Given the description of an element on the screen output the (x, y) to click on. 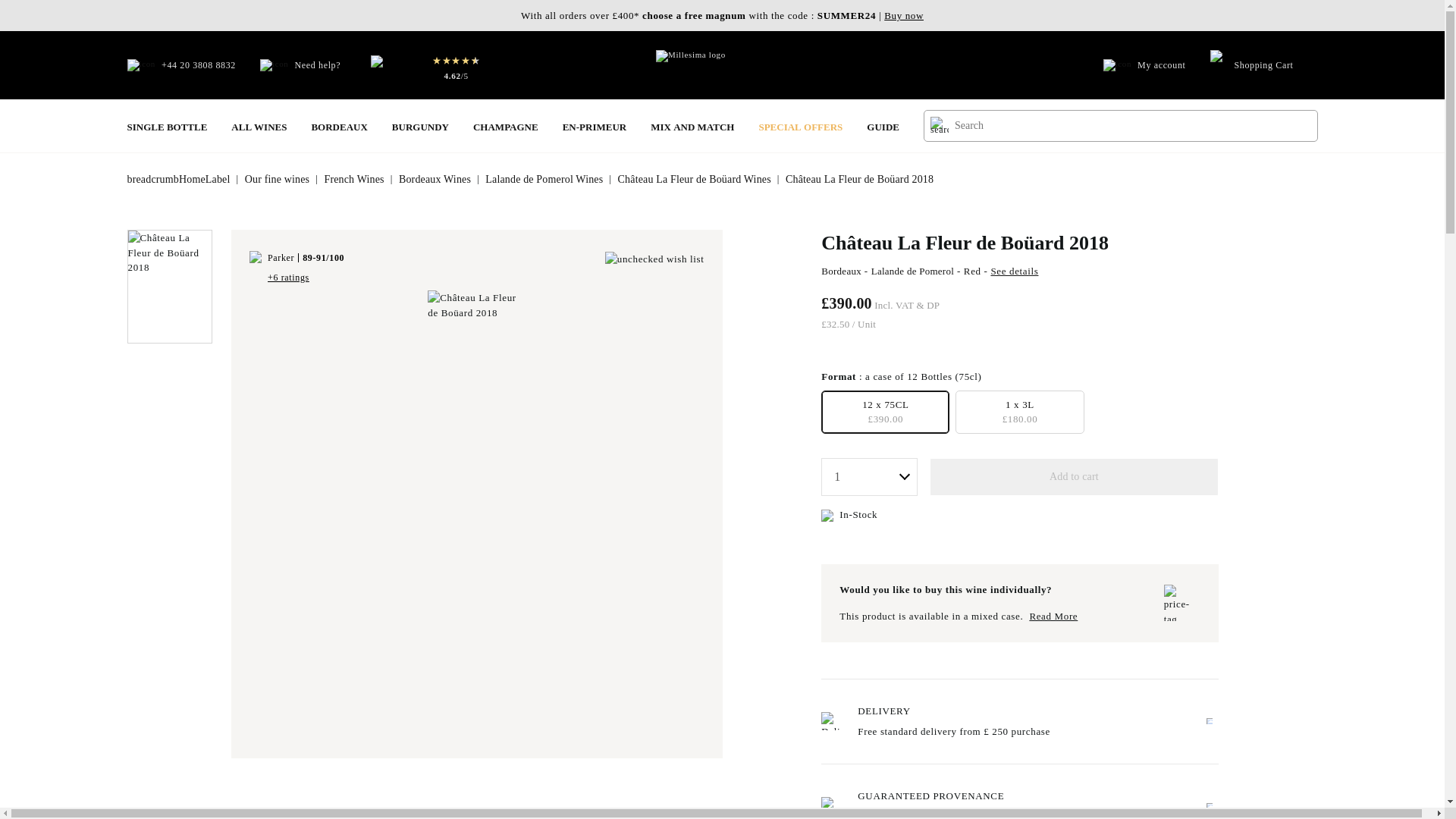
Champagne (505, 125)
Mix and match (691, 125)
Burgundy (419, 125)
Buy now (903, 15)
Single bottle (168, 125)
All Wines (258, 125)
Bordeaux (338, 125)
En-Primeur (594, 125)
Special Offers (800, 125)
